Given the description of an element on the screen output the (x, y) to click on. 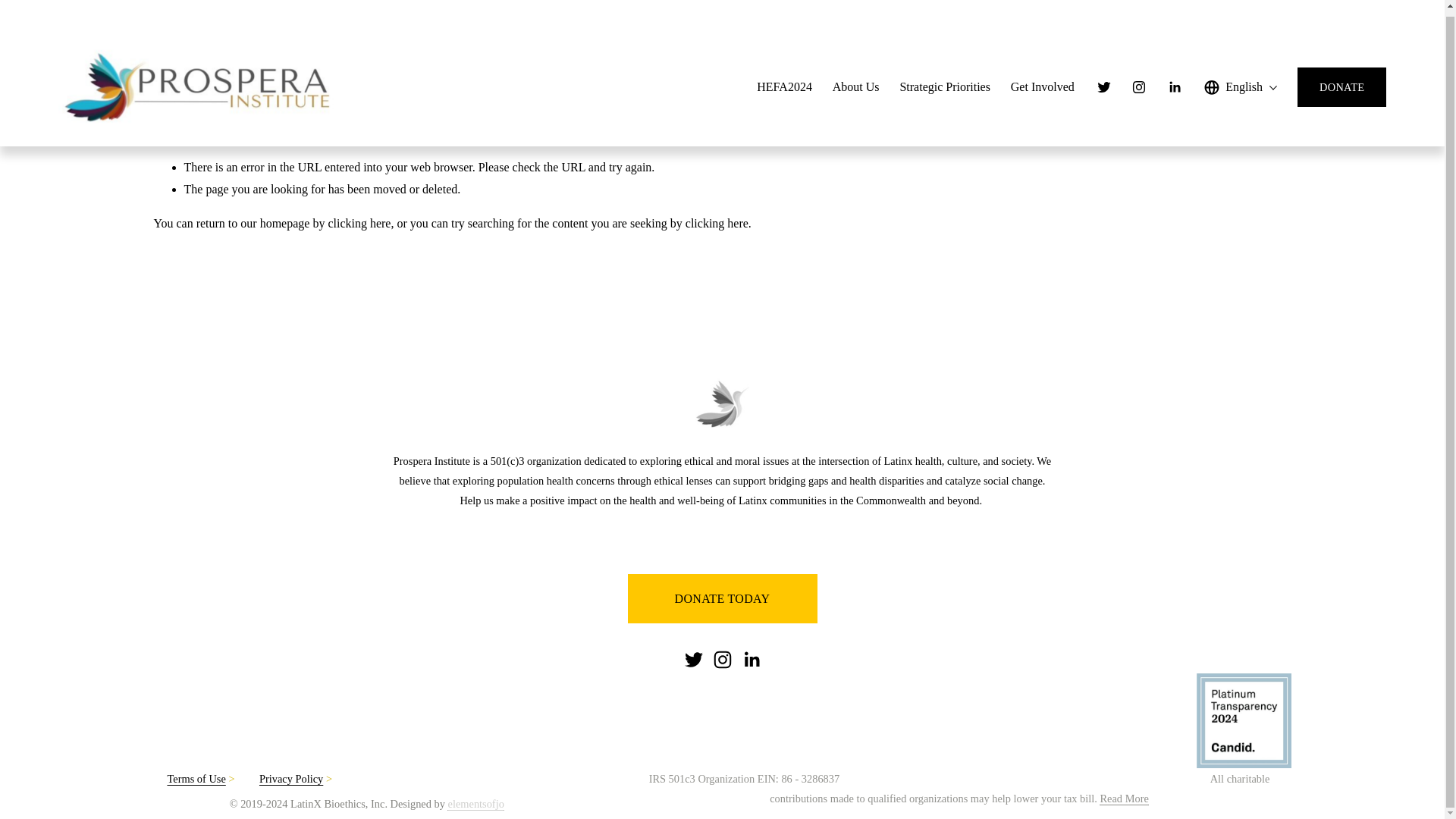
Get Involved (1042, 81)
DONATE (1341, 81)
About Us (855, 81)
HEFA2024 (784, 81)
Strategic Priorities (944, 81)
